Given the description of an element on the screen output the (x, y) to click on. 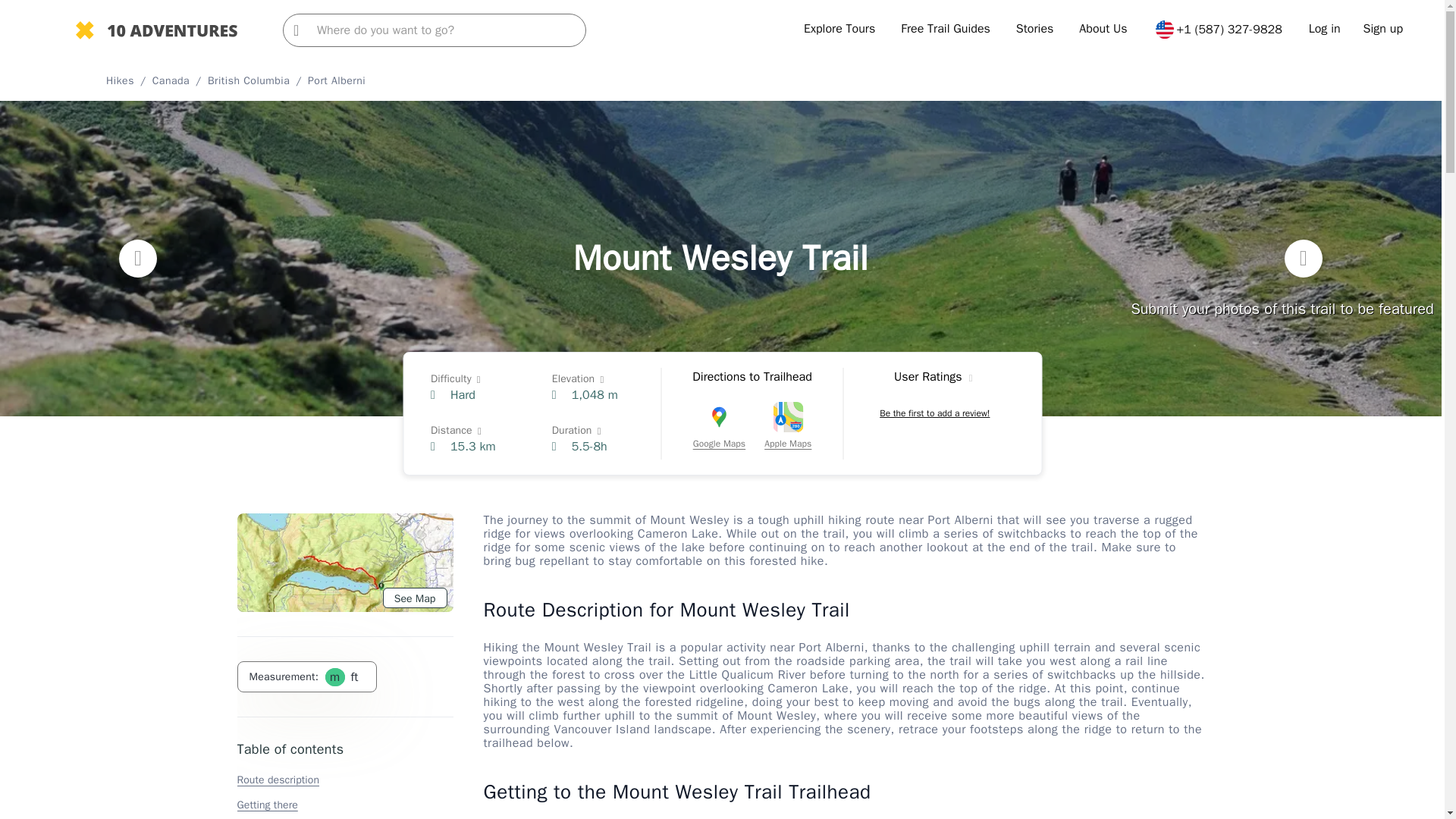
Getting there (266, 804)
Port Alberni (336, 80)
Canada (170, 80)
Log in (1324, 28)
See Map (413, 598)
Sign up (1382, 28)
metric (333, 676)
Explore Tours (839, 28)
British Columbia (248, 80)
About Us (1102, 28)
